Given the description of an element on the screen output the (x, y) to click on. 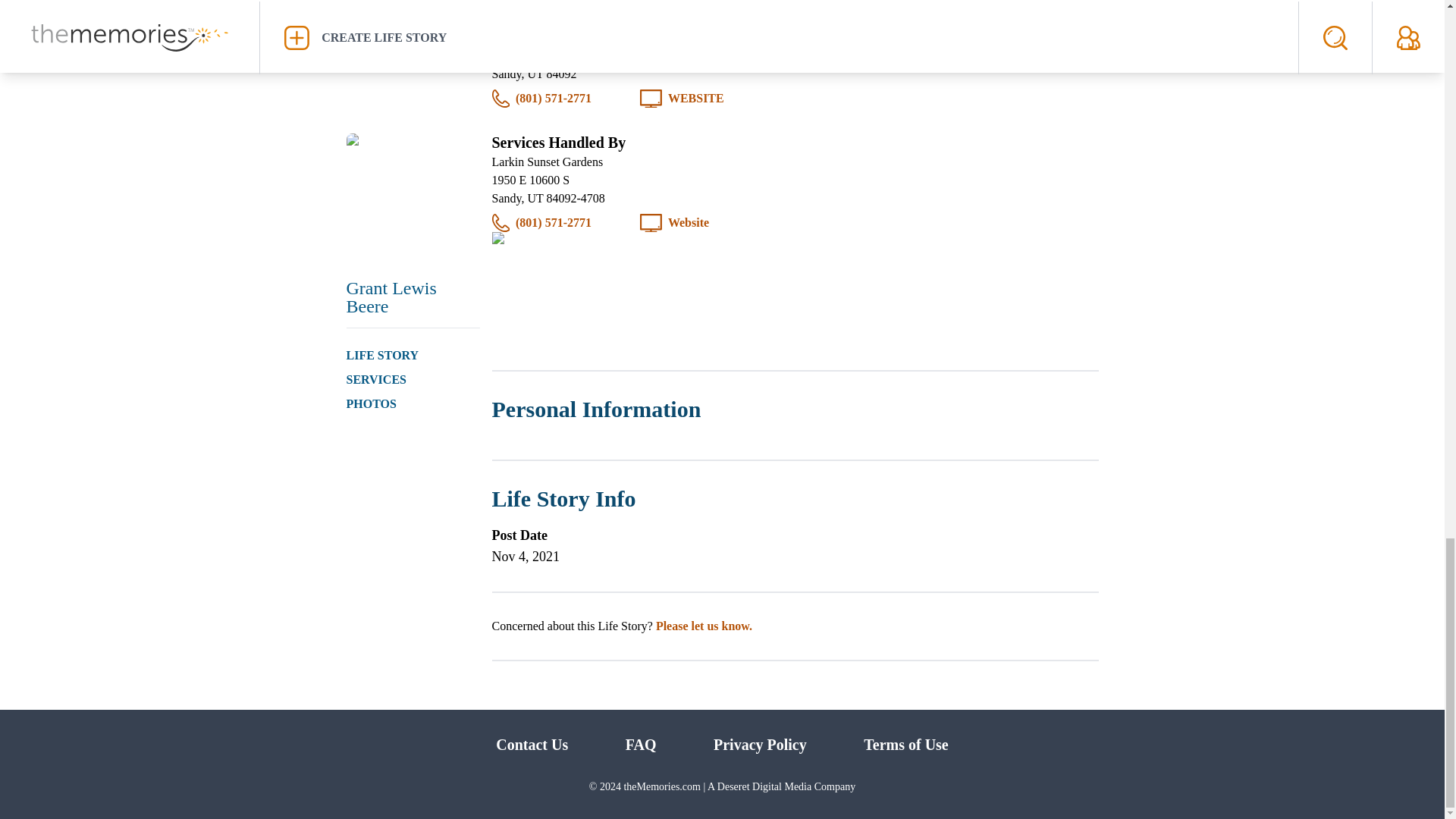
Website (688, 222)
WEBSITE (695, 98)
Privacy Policy (759, 744)
Please let us know. (704, 625)
Contact Us (531, 744)
FAQ (641, 744)
Terms of Use (905, 744)
